Given the description of an element on the screen output the (x, y) to click on. 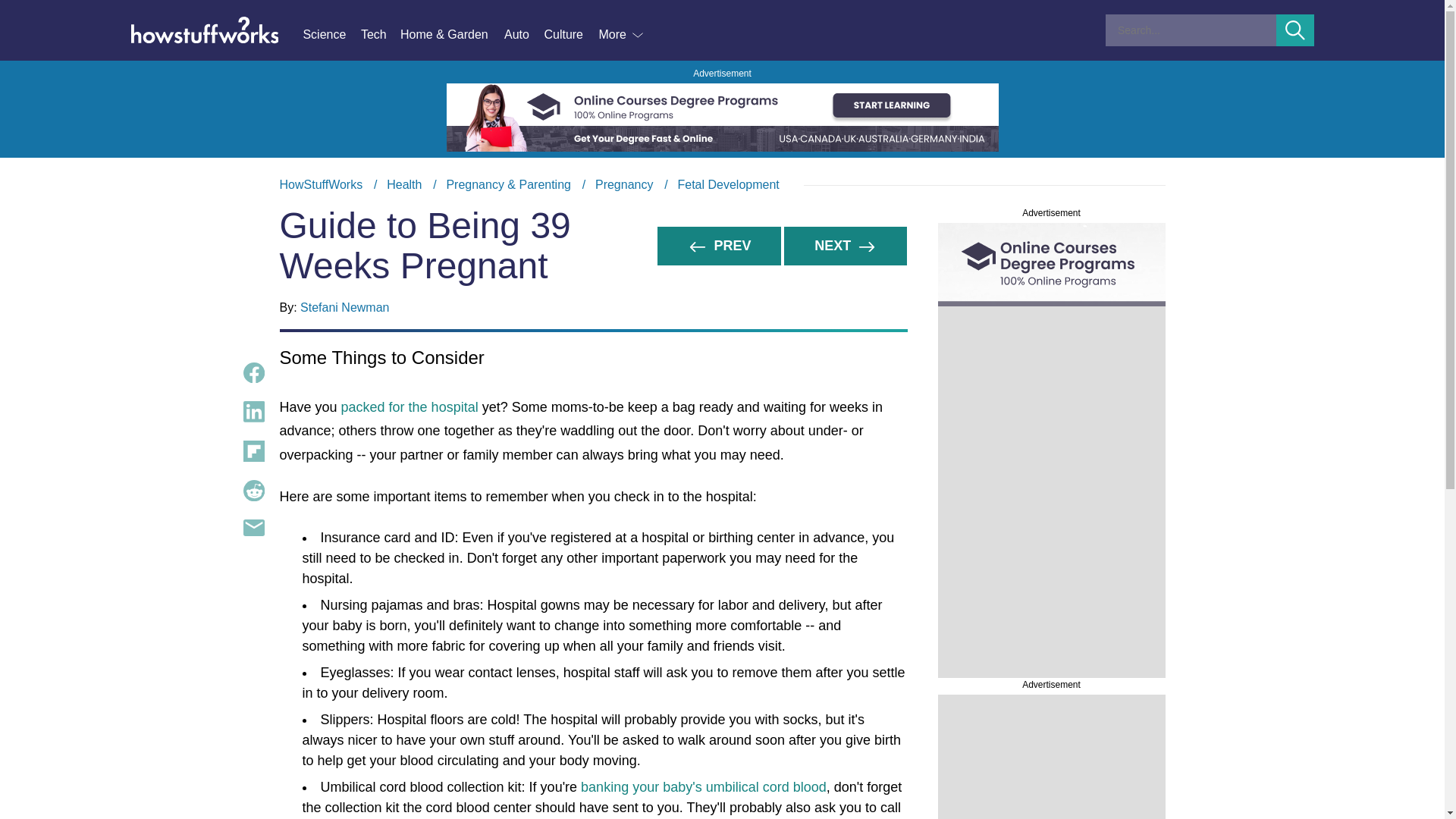
HowStuffWorks (320, 184)
Culture (570, 34)
Tech (380, 34)
Health (404, 184)
Share Content on LinkedIn (253, 411)
Share Content on Reddit (253, 490)
Auto (523, 34)
Share Content via Email (253, 527)
More (621, 34)
Science (330, 34)
